Given the description of an element on the screen output the (x, y) to click on. 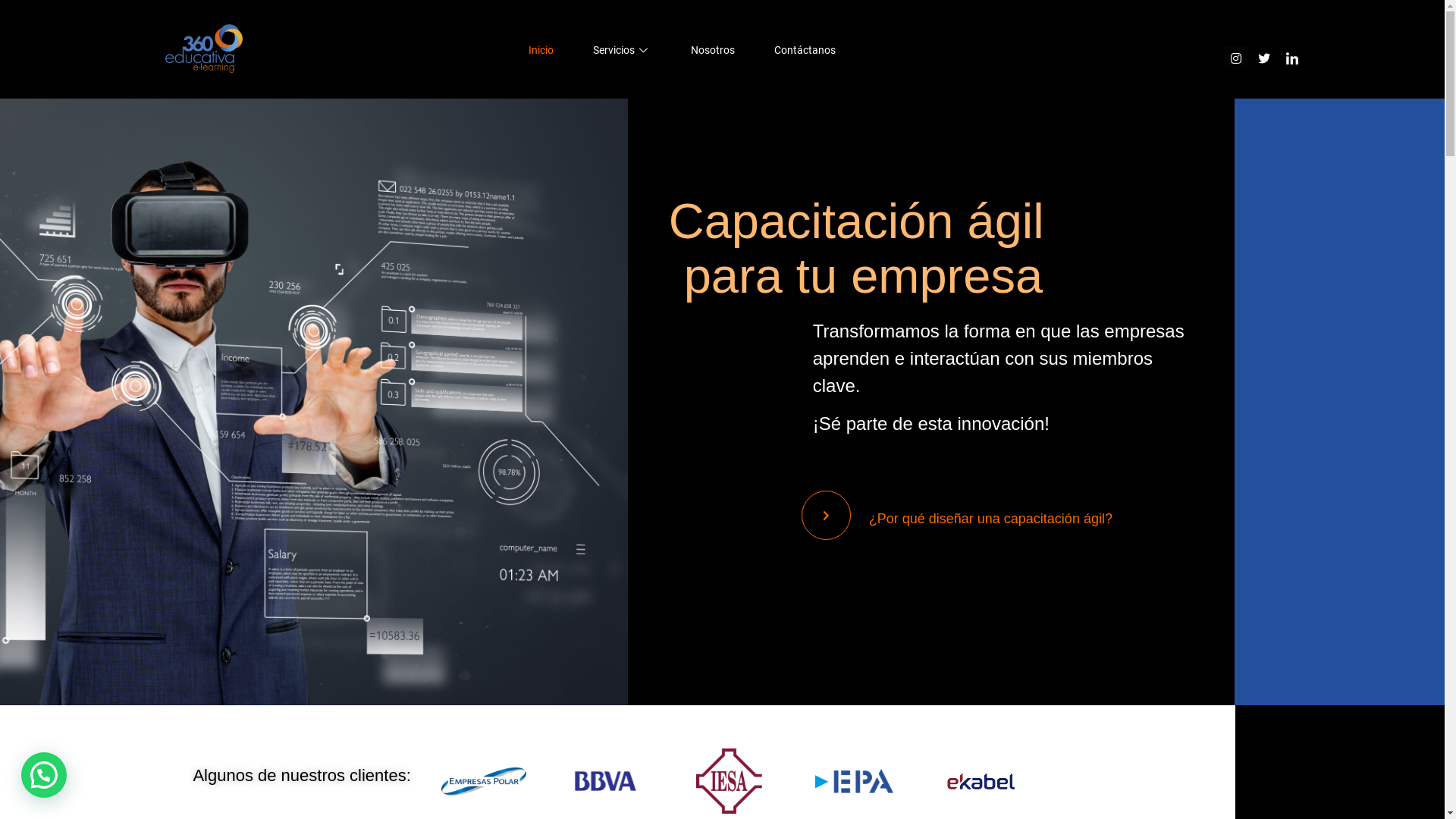
Nosotros Element type: text (692, 50)
Servicios Element type: text (602, 50)
Inicio Element type: text (521, 50)
